Given the description of an element on the screen output the (x, y) to click on. 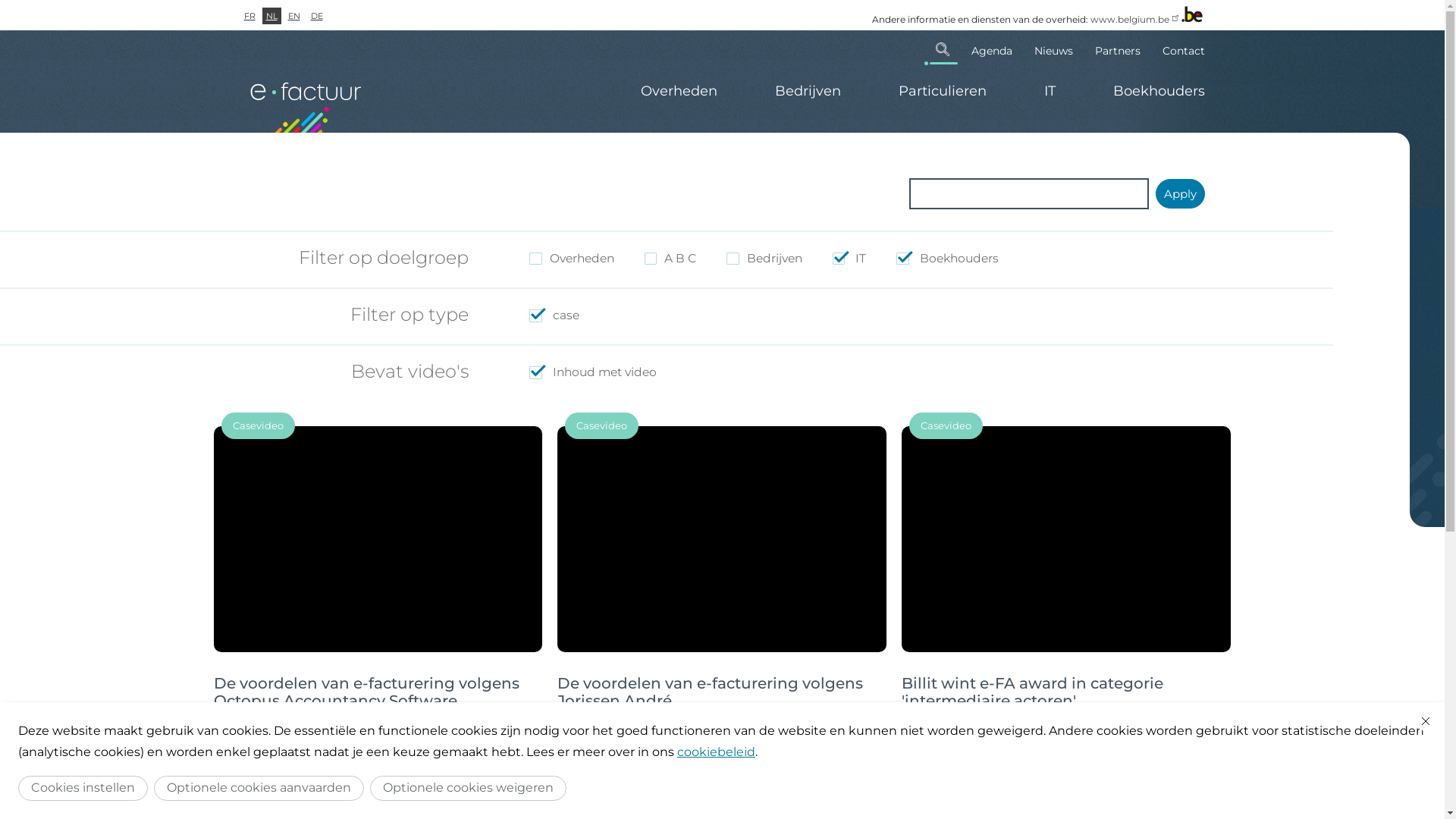
Agenda Element type: text (991, 49)
Cookies instellen Element type: text (82, 787)
Optionele cookies aanvaarden Element type: text (258, 787)
Boekhouders Element type: text (1144, 91)
DE Element type: text (316, 15)
Billit wint e-FA award in categorie 'intermediaire actoren' Element type: text (1032, 691)
NL Element type: text (271, 15)
Ga naar de hoofdinhoud Element type: text (0, 0)
Zoeken Element type: text (942, 49)
cookiebeleid Element type: text (716, 751)
www.belgium.be(externe link) Element type: text (1135, 19)
Apply Element type: text (1179, 193)
Optionele cookies weigeren Element type: text (468, 787)
Particulieren Element type: text (941, 91)
FR Element type: text (248, 15)
IT Element type: text (1049, 91)
Partners Element type: text (1117, 49)
Nieuws Element type: text (1053, 49)
IT Element type: text (906, 731)
Contact Element type: text (1178, 49)
Overheden Element type: text (677, 91)
EN Element type: text (293, 15)
Bedrijven Element type: text (807, 91)
IT Element type: text (218, 731)
Boekhouders Element type: text (594, 731)
Sluiten Element type: hover (1425, 721)
Terug naar de startpagina Element type: hover (304, 100)
